Given the description of an element on the screen output the (x, y) to click on. 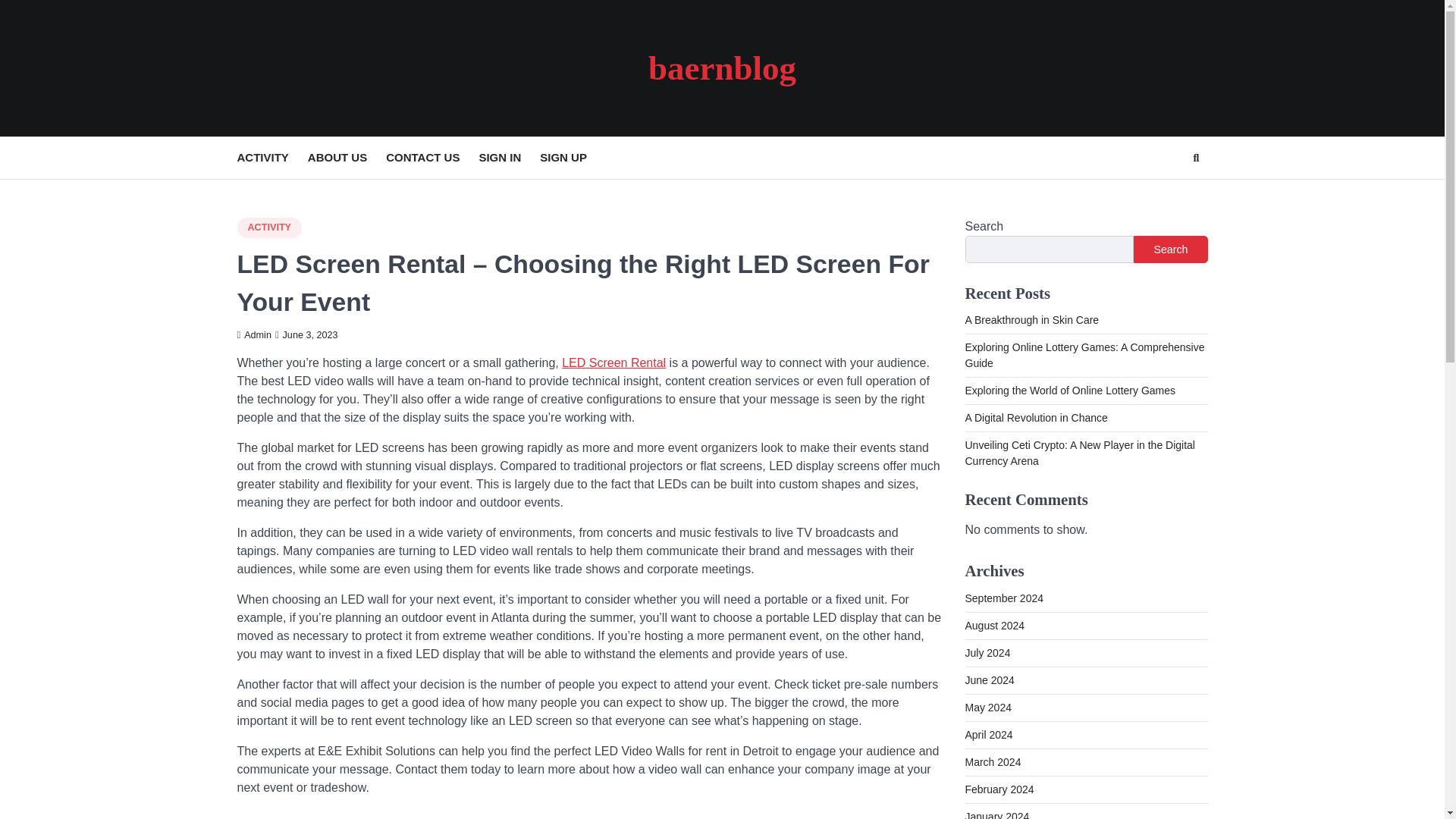
baernblog (721, 67)
ABOUT US (346, 158)
March 2024 (991, 761)
SIGN UP (572, 158)
CONTACT US (432, 158)
ACTIVITY (268, 227)
A Digital Revolution in Chance (1034, 417)
Admin (252, 335)
September 2024 (1003, 598)
ACTIVITY (271, 158)
